Given the description of an element on the screen output the (x, y) to click on. 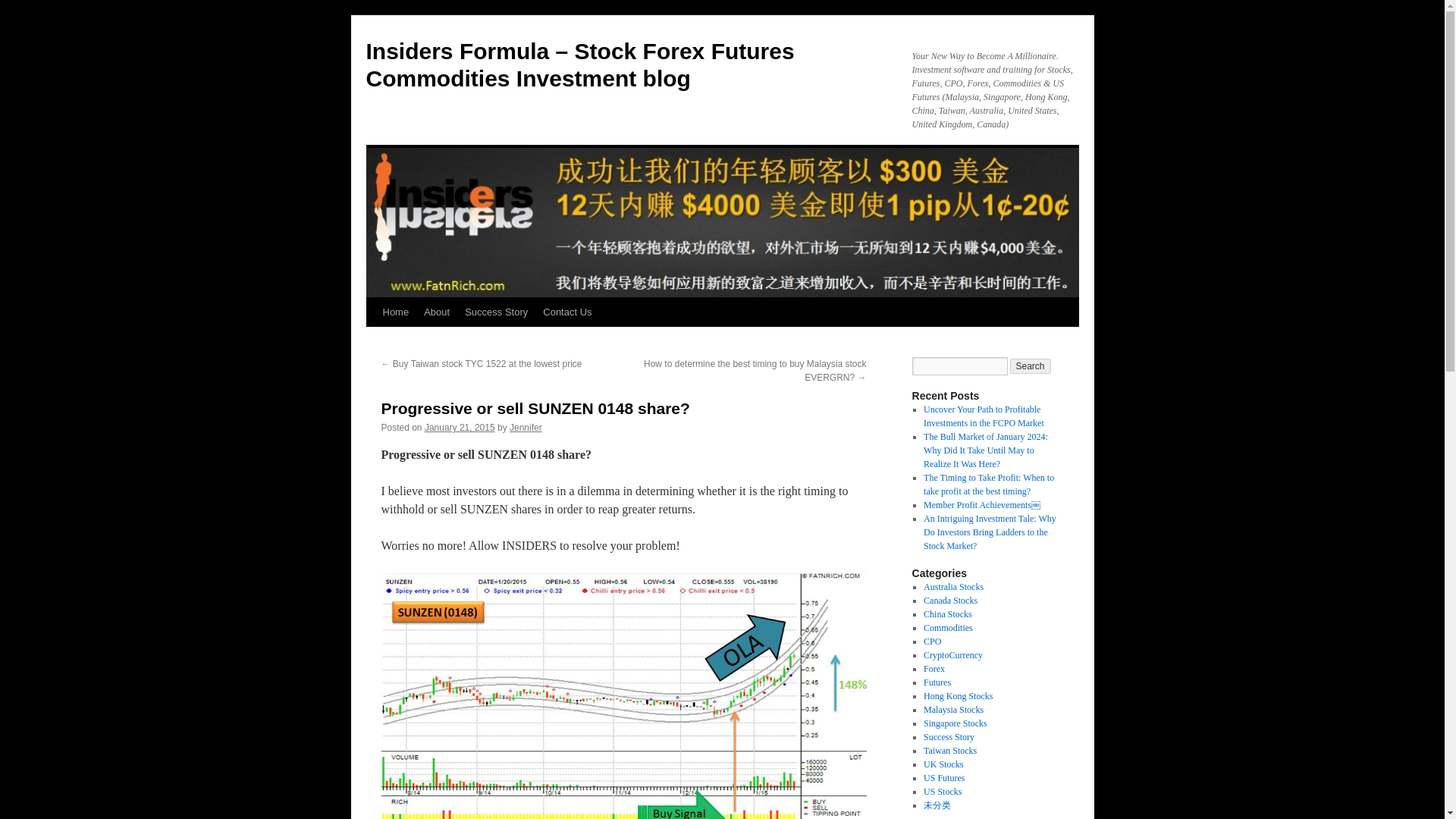
Australia Stocks (953, 586)
Search (1030, 365)
Canada Stocks (949, 600)
China Stocks (947, 614)
Jennifer (525, 427)
Contact Us (566, 312)
January 21, 2015 (460, 427)
